Given the description of an element on the screen output the (x, y) to click on. 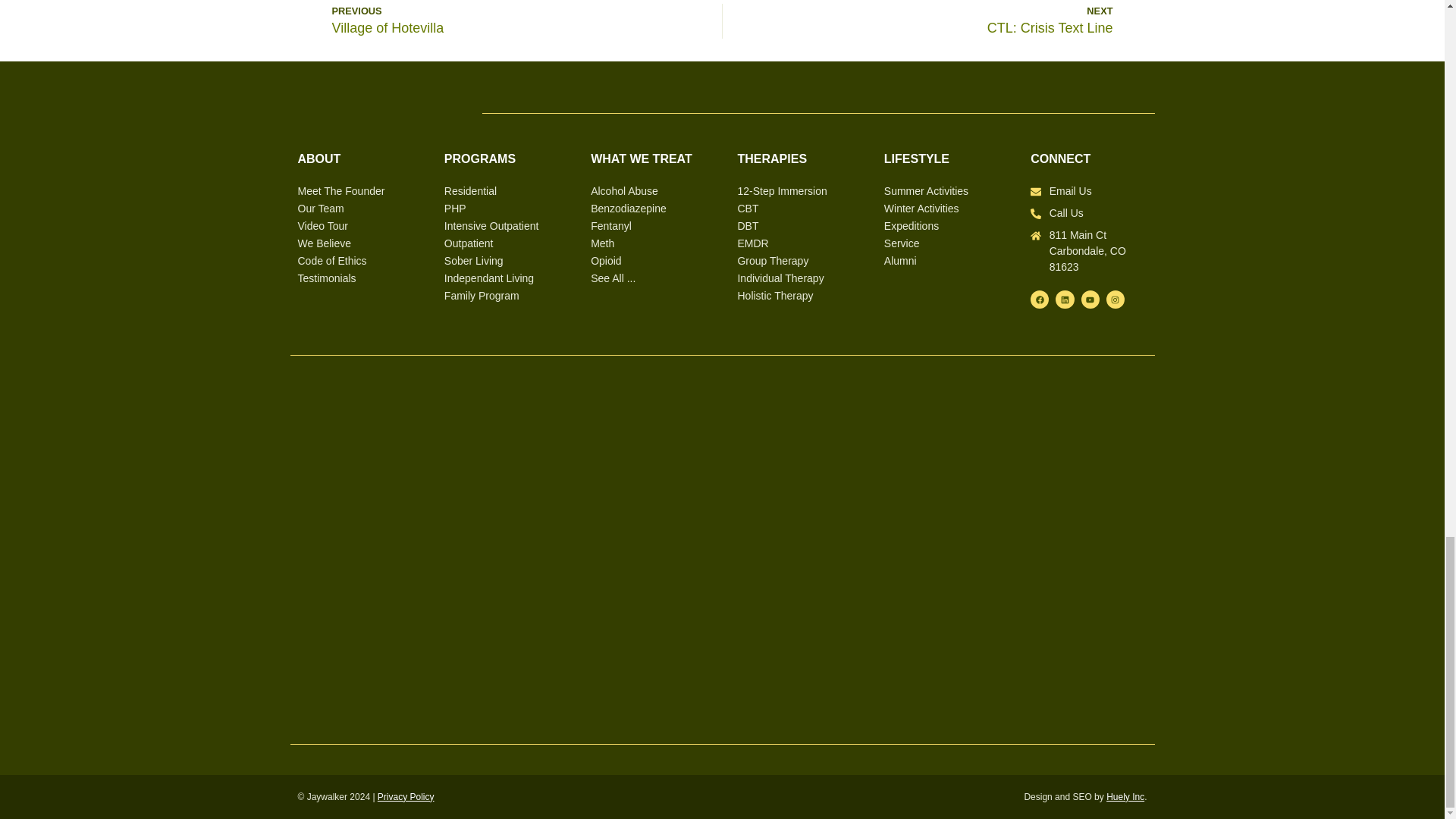
Jaywalker Lodge Logo White - Jaywalker (373, 108)
Privacy Policy (405, 796)
